Given the description of an element on the screen output the (x, y) to click on. 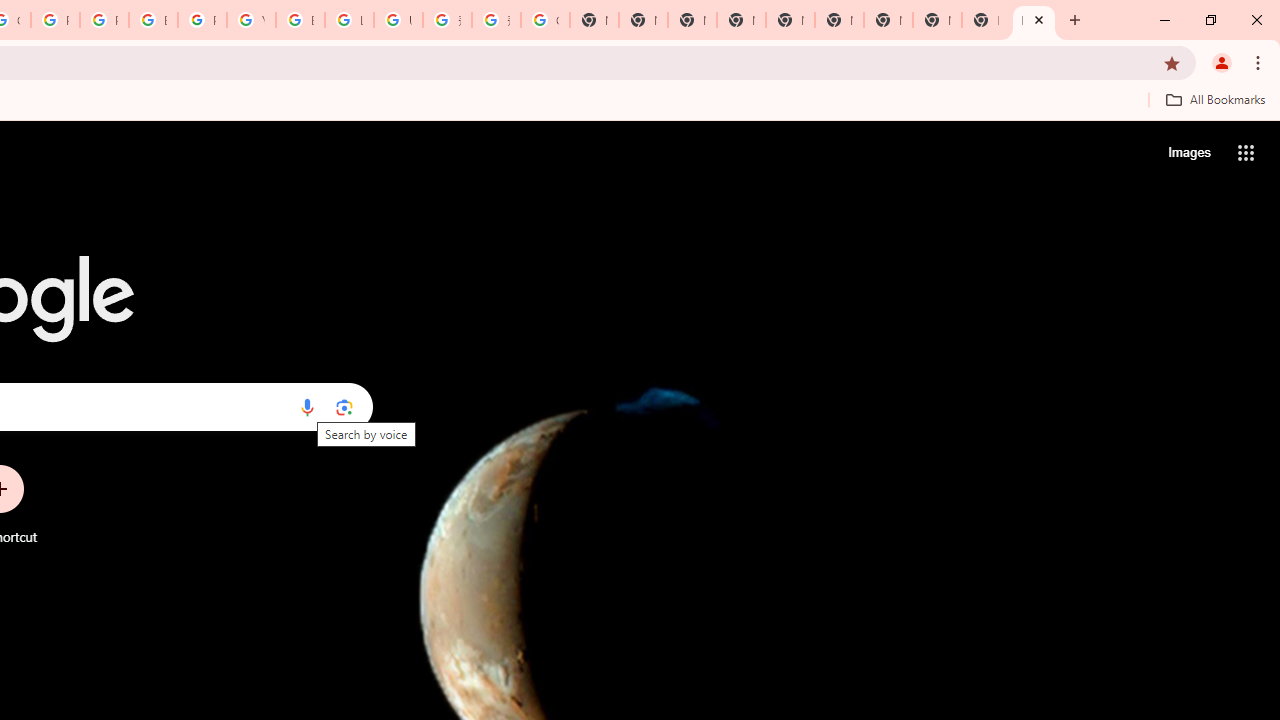
Google Images (545, 20)
New Tab (1033, 20)
New Tab (740, 20)
Privacy Help Center - Policies Help (55, 20)
Privacy Help Center - Policies Help (104, 20)
